Given the description of an element on the screen output the (x, y) to click on. 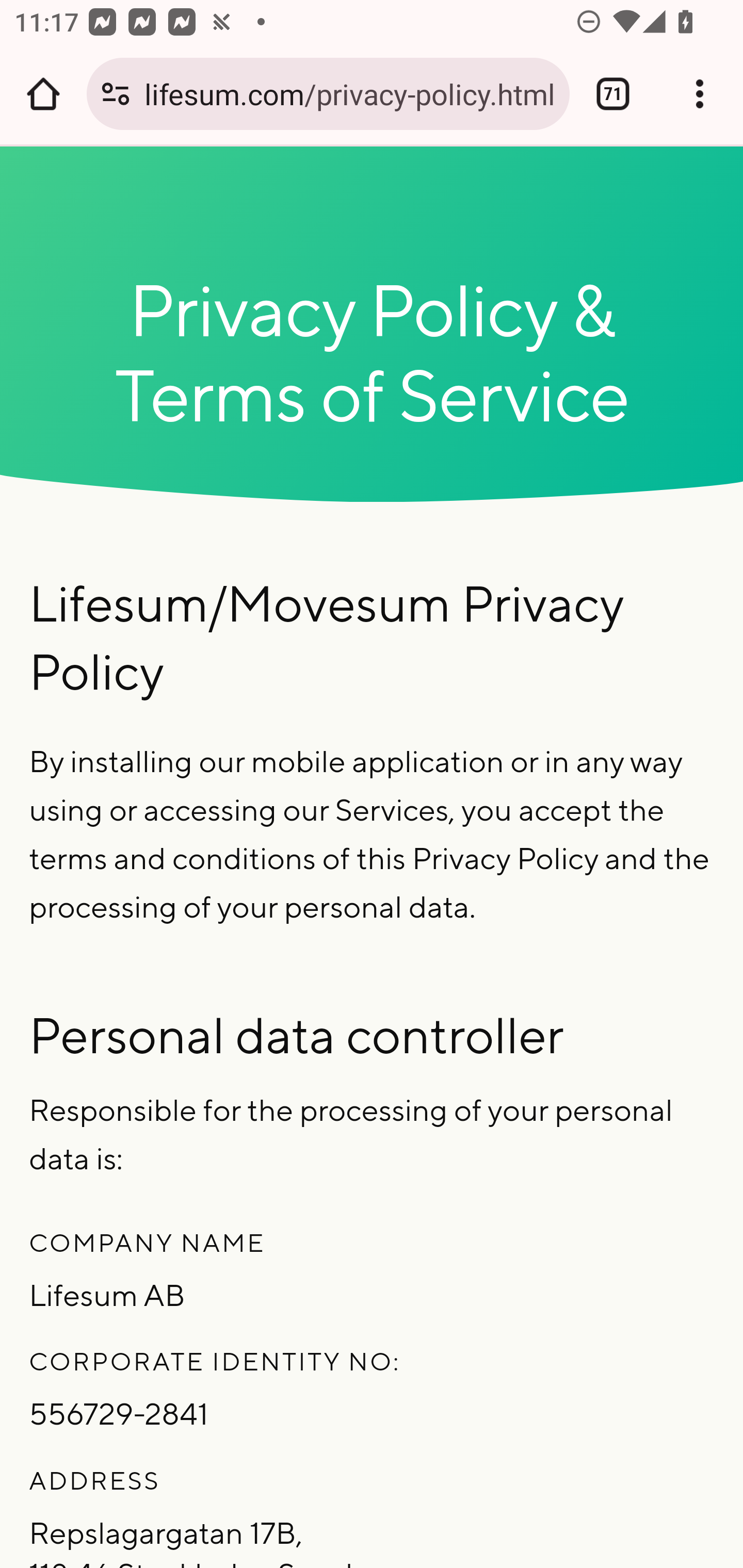
Open the home page (43, 93)
Connection is secure (115, 93)
Switch or close tabs (612, 93)
Customize and control Google Chrome (699, 93)
lifesum.com/privacy-policy.html (349, 92)
